Given the description of an element on the screen output the (x, y) to click on. 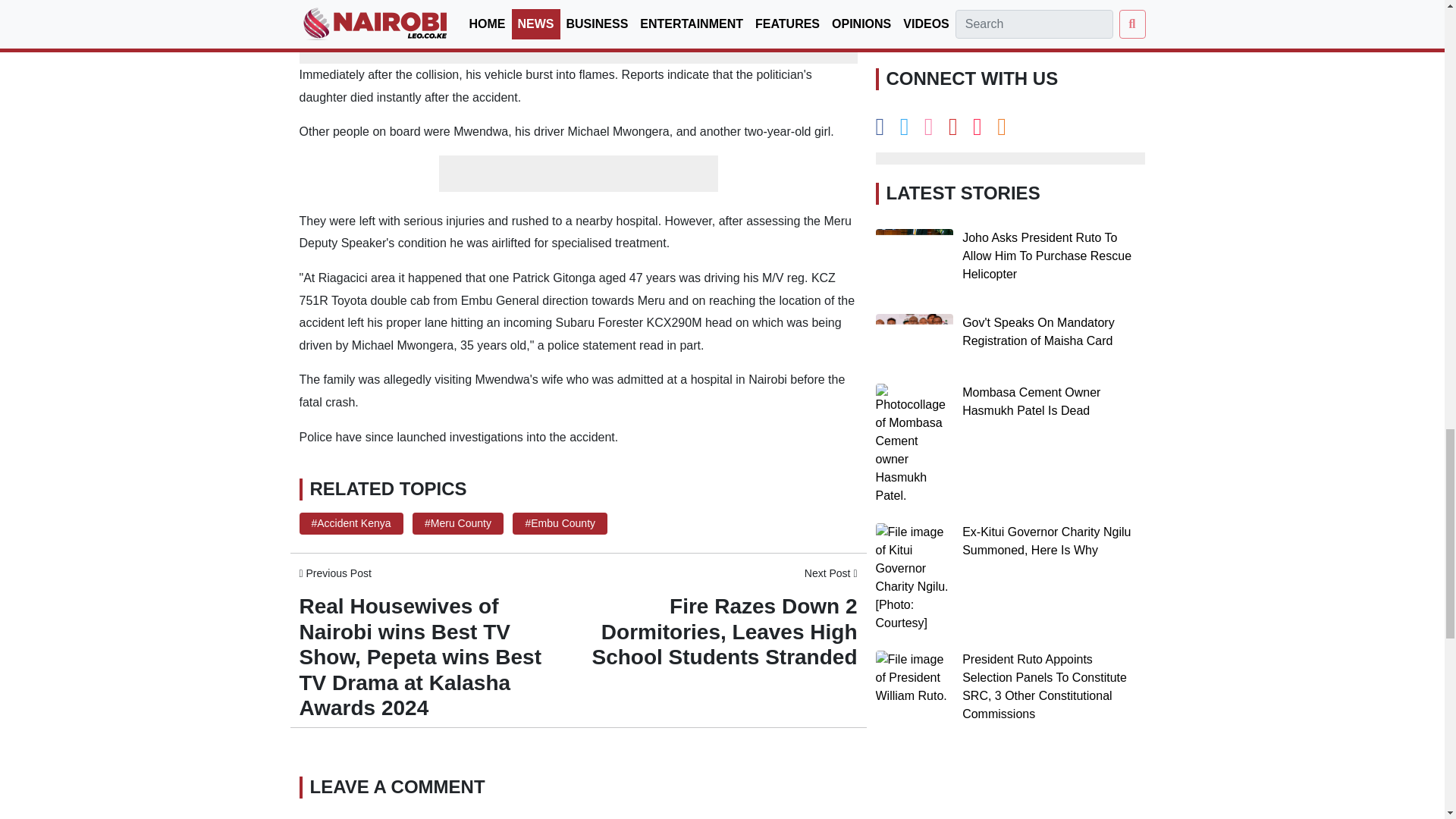
5 Family Members Killed in Eldoret-Malaba Road Crash (484, 29)
Topic: Accident Kenya (350, 522)
Topic: Meru County (458, 522)
Next Post (831, 573)
Previous Post (334, 573)
